Given the description of an element on the screen output the (x, y) to click on. 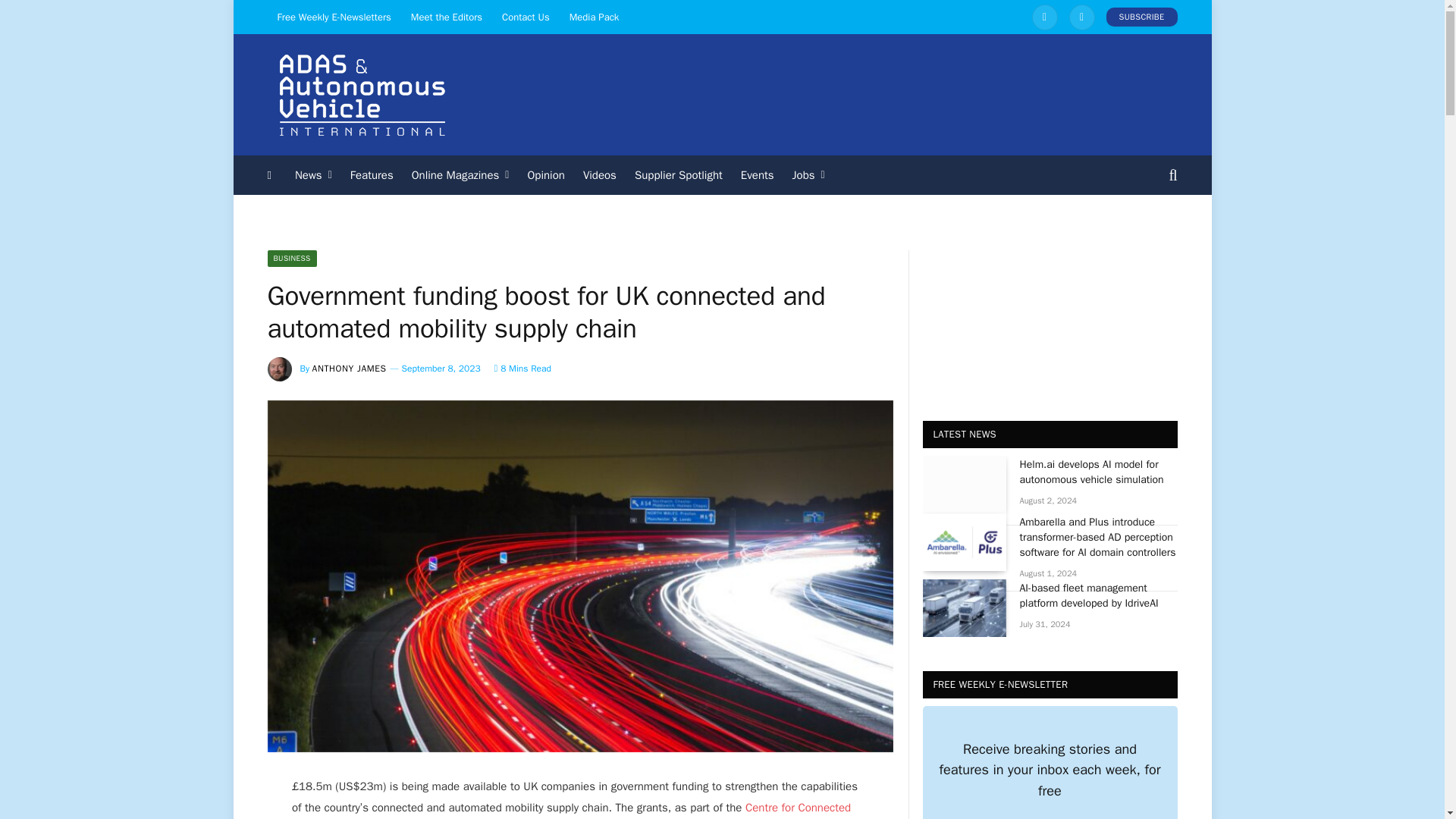
Posts by Anthony James (350, 368)
